Given the description of an element on the screen output the (x, y) to click on. 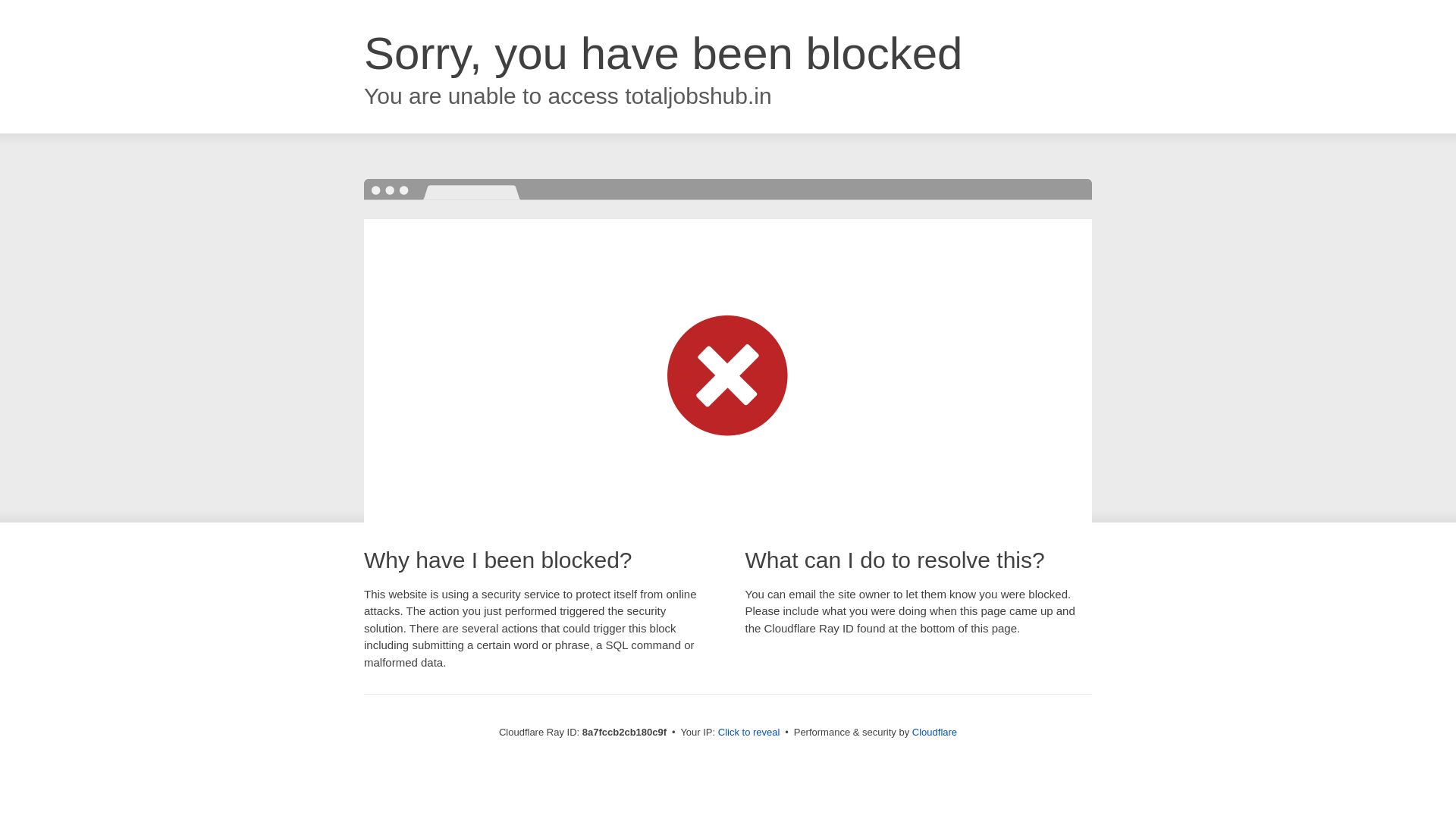
Cloudflare (934, 731)
Click to reveal (748, 732)
